Given the description of an element on the screen output the (x, y) to click on. 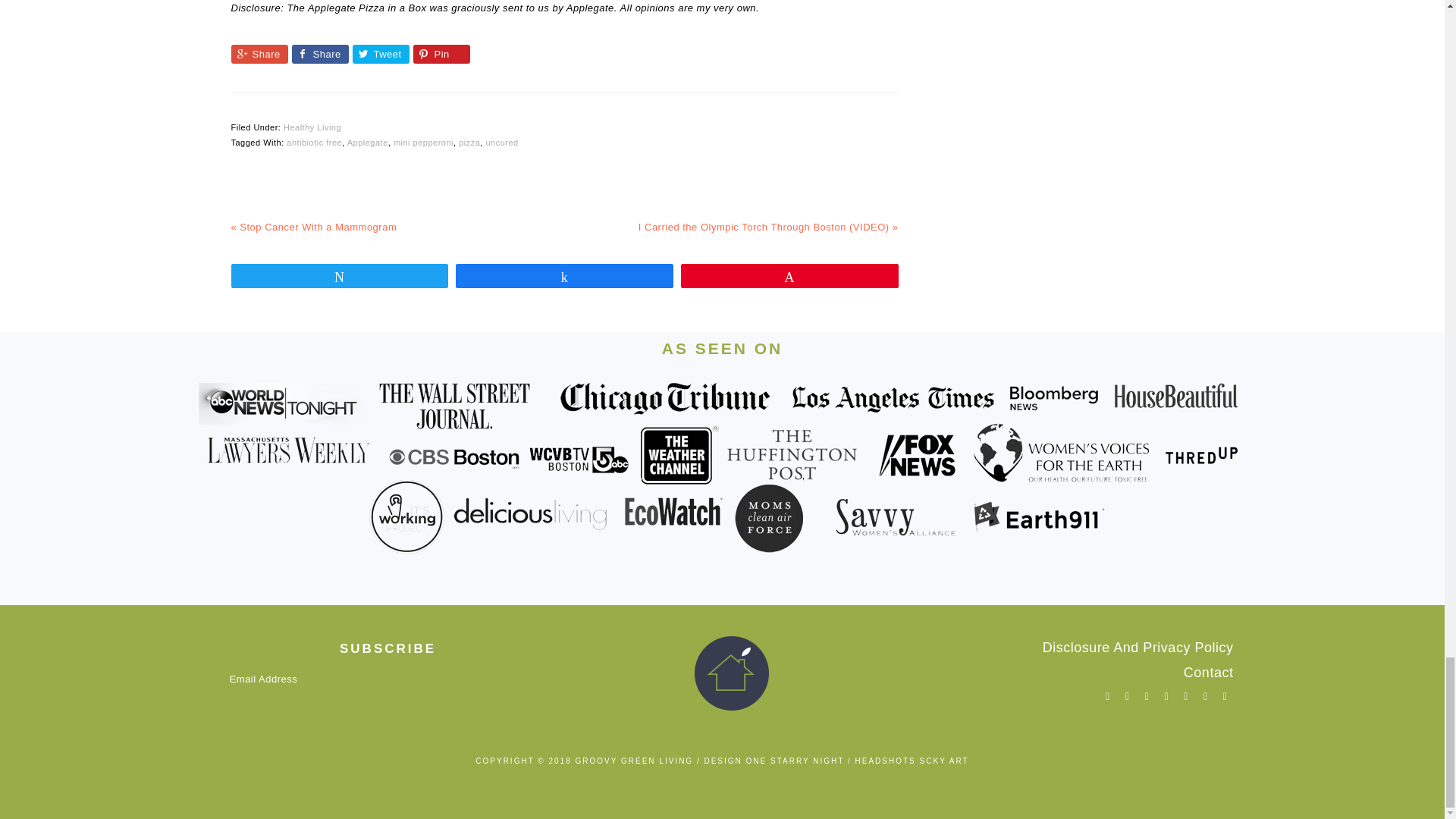
Share (319, 54)
Share (258, 54)
